Given the description of an element on the screen output the (x, y) to click on. 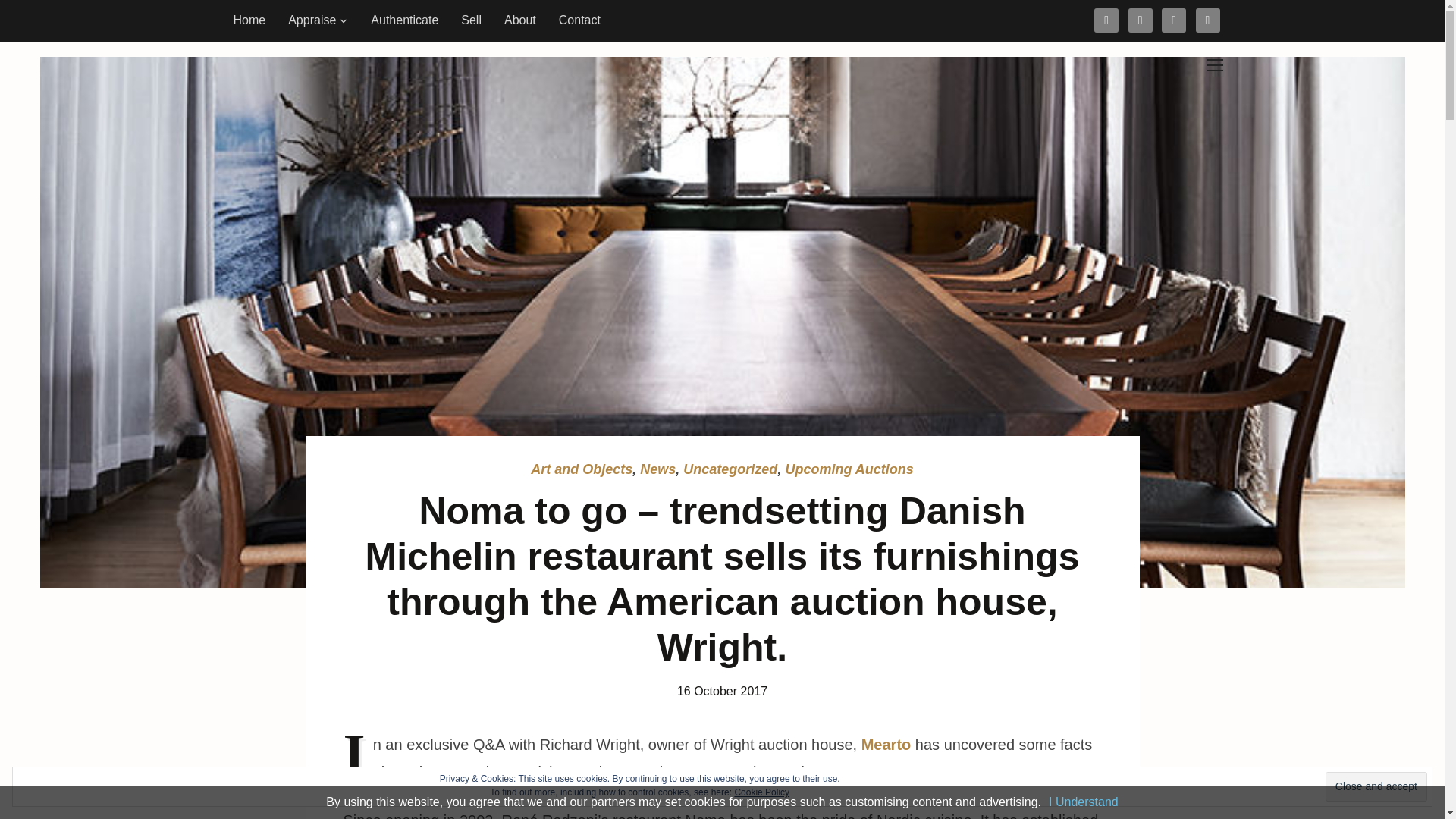
instagram (1173, 19)
Instagram (1173, 19)
About (520, 20)
Close and accept (1375, 786)
Home (248, 20)
Default Label (1207, 19)
Sell (471, 20)
Authenticate (404, 20)
facebook (1106, 19)
linkedin (1207, 19)
Follow Me (1140, 19)
Friend me on Facebook (1106, 19)
twitter (1140, 19)
Contact (579, 20)
Appraise (317, 20)
